Given the description of an element on the screen output the (x, y) to click on. 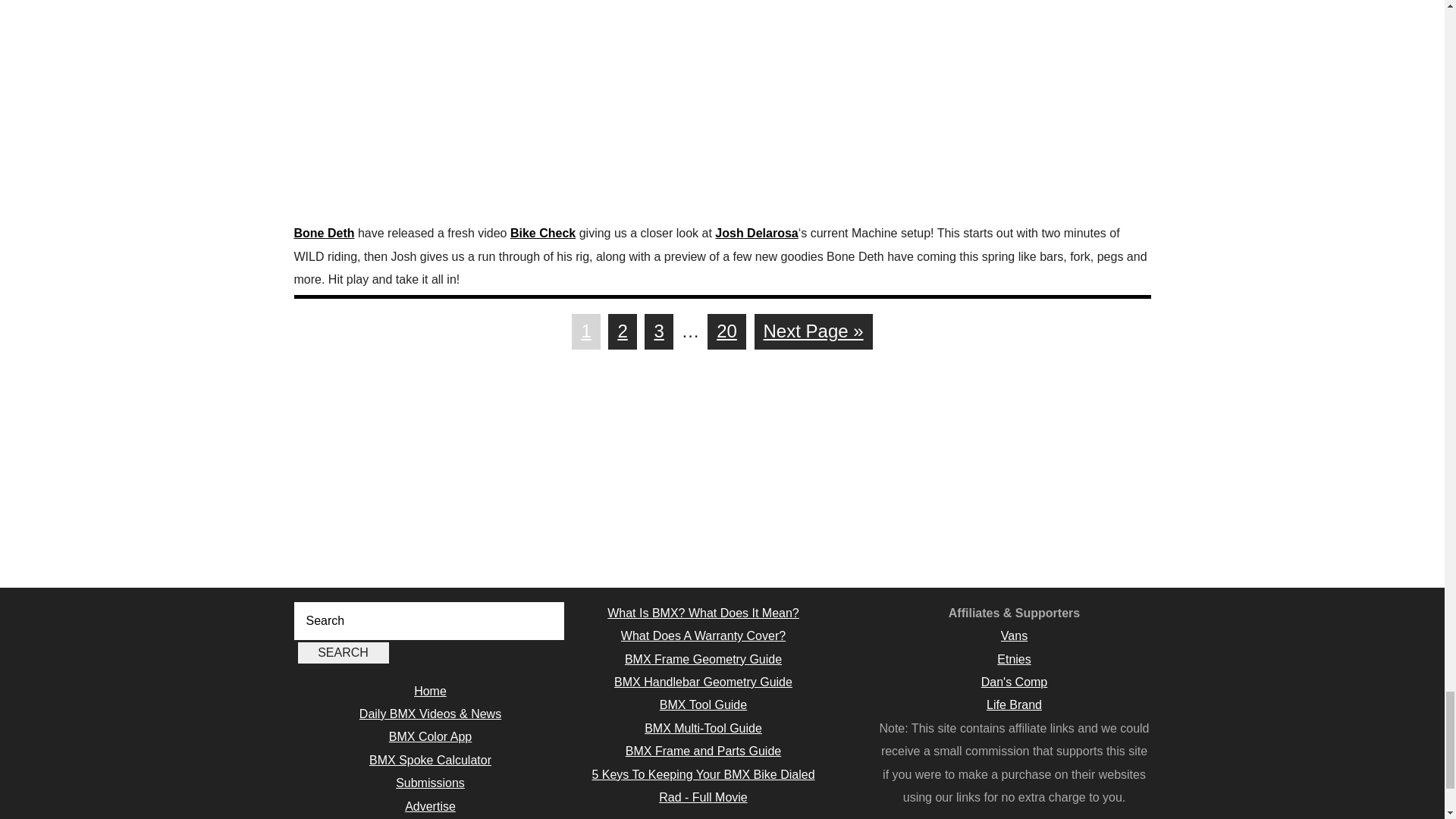
Search (342, 652)
Search (342, 652)
